Given the description of an element on the screen output the (x, y) to click on. 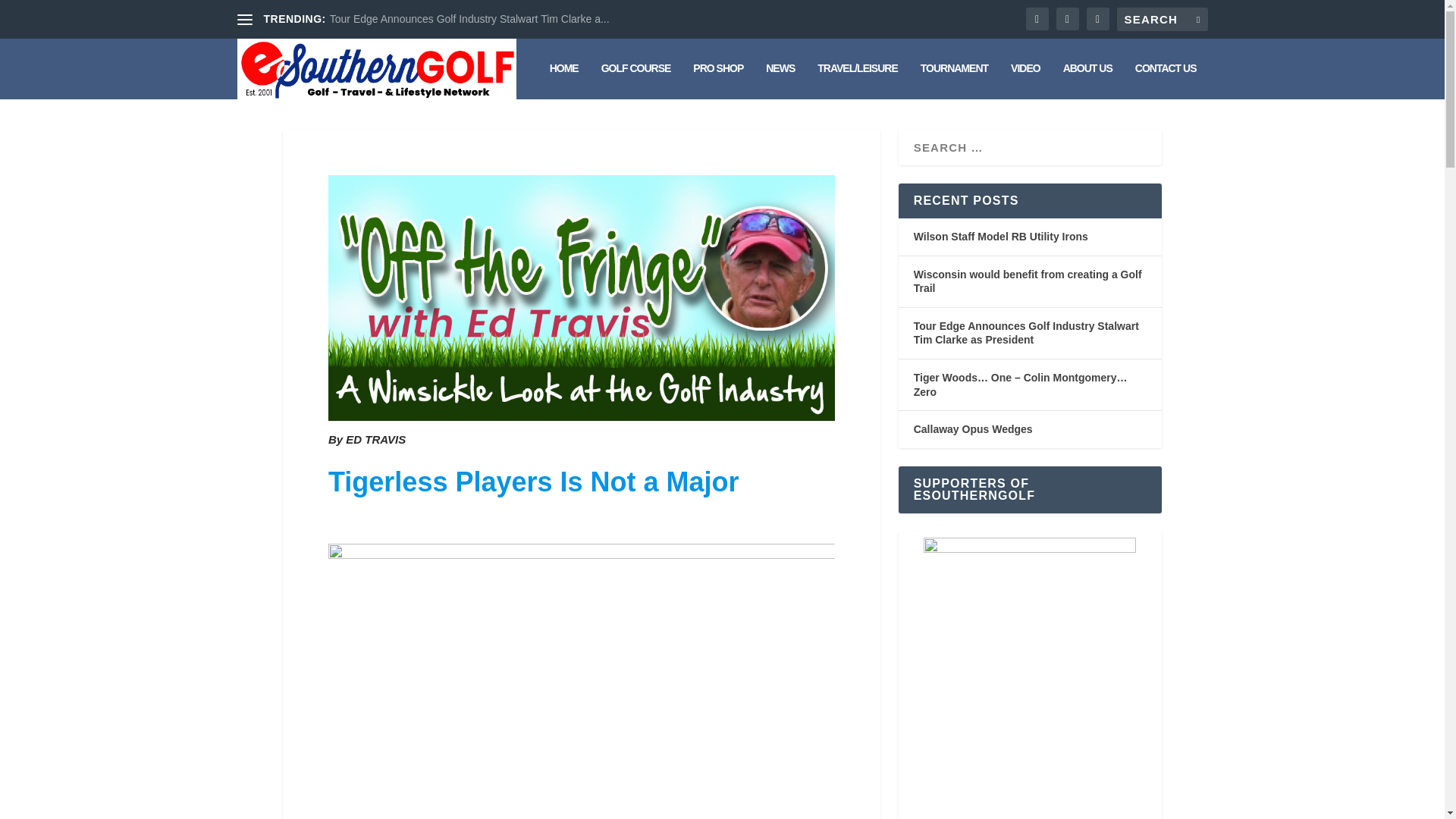
TOURNAMENT (954, 80)
ABOUT US (1087, 80)
CONTACT US (1165, 80)
PRO SHOP (717, 80)
GOLF COURSE (636, 80)
Tour Edge Announces Golf Industry Stalwart Tim Clarke a... (470, 19)
Search for: (1161, 19)
